Given the description of an element on the screen output the (x, y) to click on. 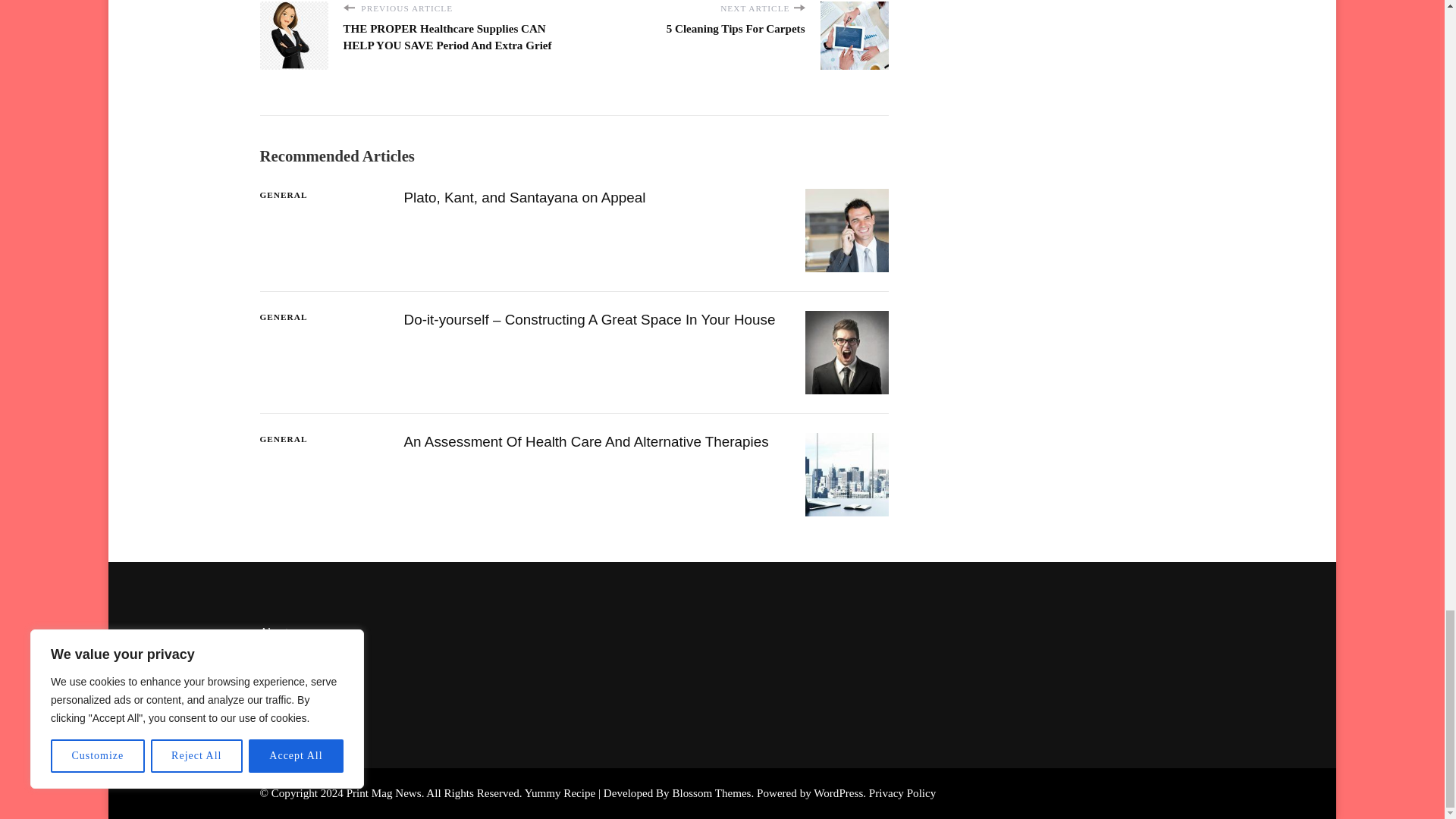
GENERAL (283, 195)
